Given the description of an element on the screen output the (x, y) to click on. 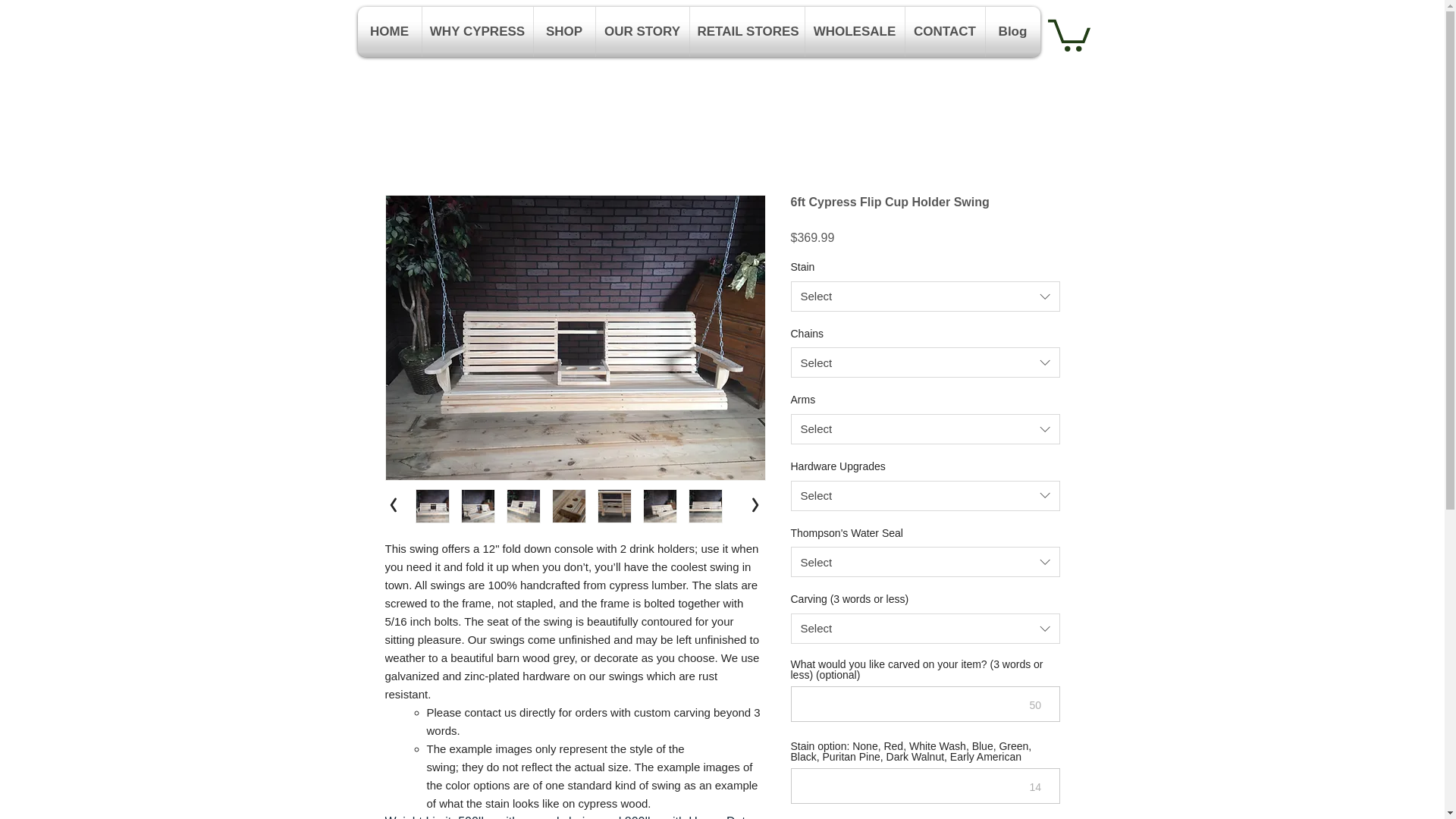
CONTACT (945, 31)
Select (924, 296)
Select (924, 562)
HOME (390, 31)
Select (924, 429)
Select (924, 495)
Blog (1013, 31)
OUR STORY (641, 31)
WHY CYPRESS (477, 31)
Select (924, 362)
